Given the description of an element on the screen output the (x, y) to click on. 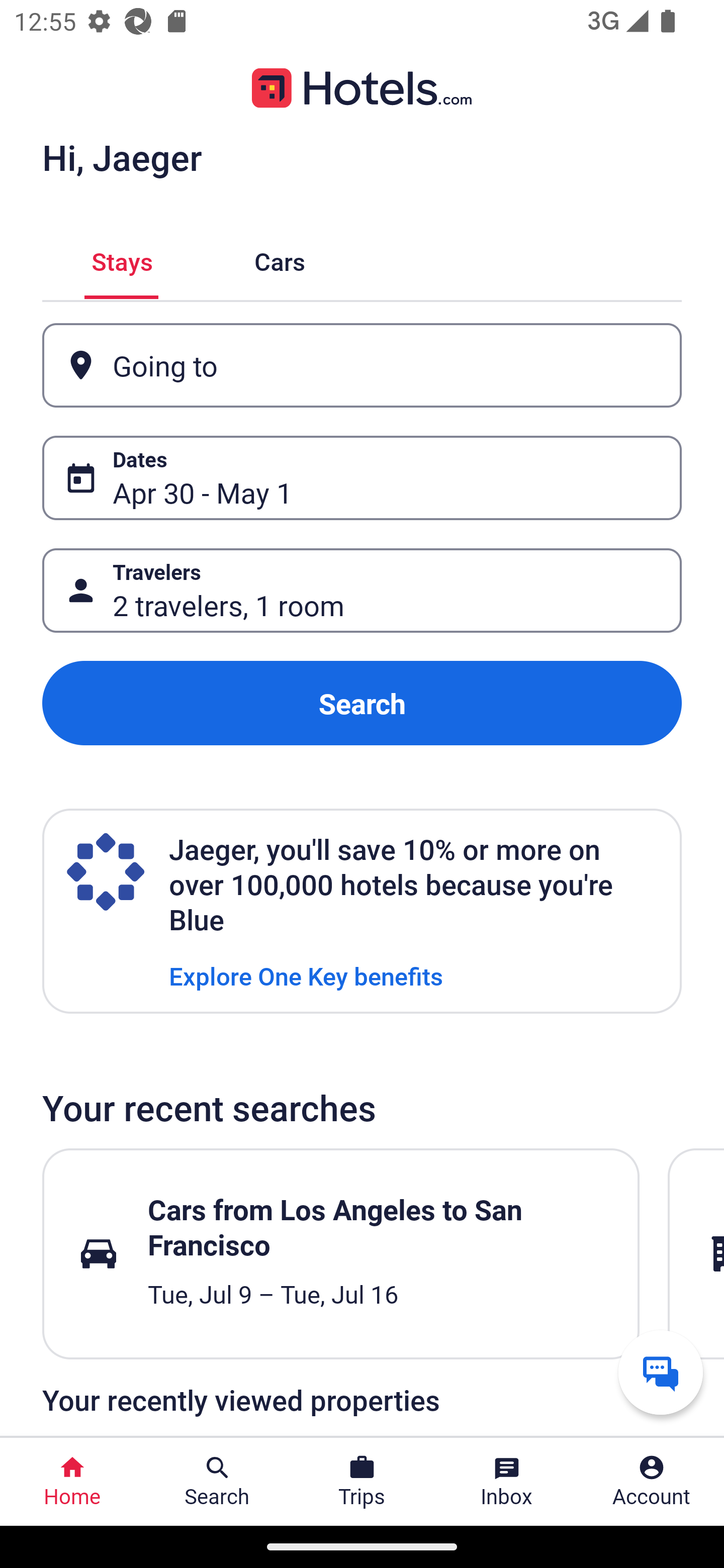
Hi, Jaeger (121, 156)
Cars (279, 259)
Going to Button (361, 365)
Dates Button Apr 30 - May 1 (361, 477)
Travelers Button 2 travelers, 1 room (361, 590)
Search (361, 702)
Get help from a virtual agent (660, 1371)
Search Search Button (216, 1481)
Trips Trips Button (361, 1481)
Inbox Inbox Button (506, 1481)
Account Profile. Button (651, 1481)
